Given the description of an element on the screen output the (x, y) to click on. 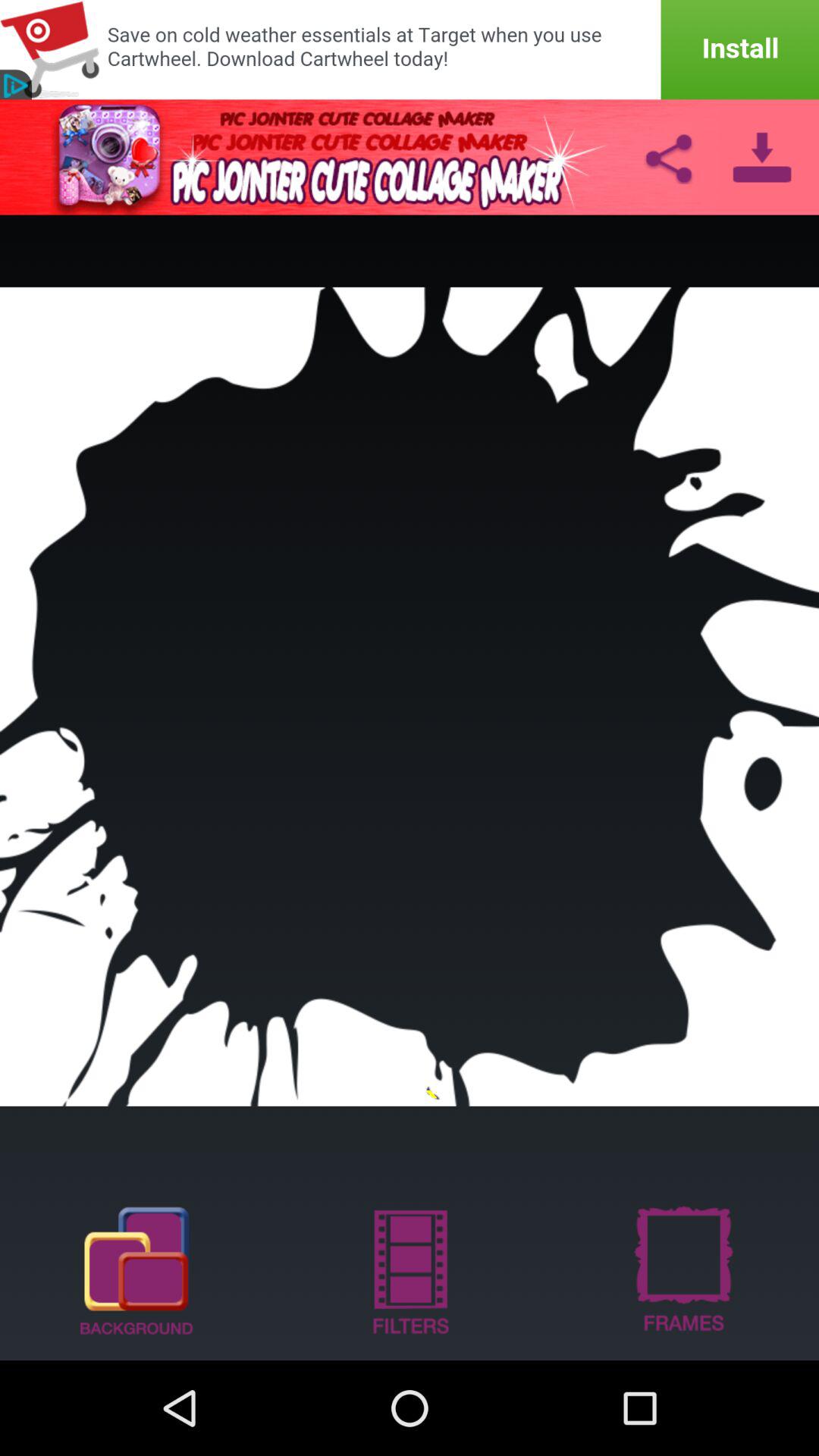
install an app (409, 49)
